Given the description of an element on the screen output the (x, y) to click on. 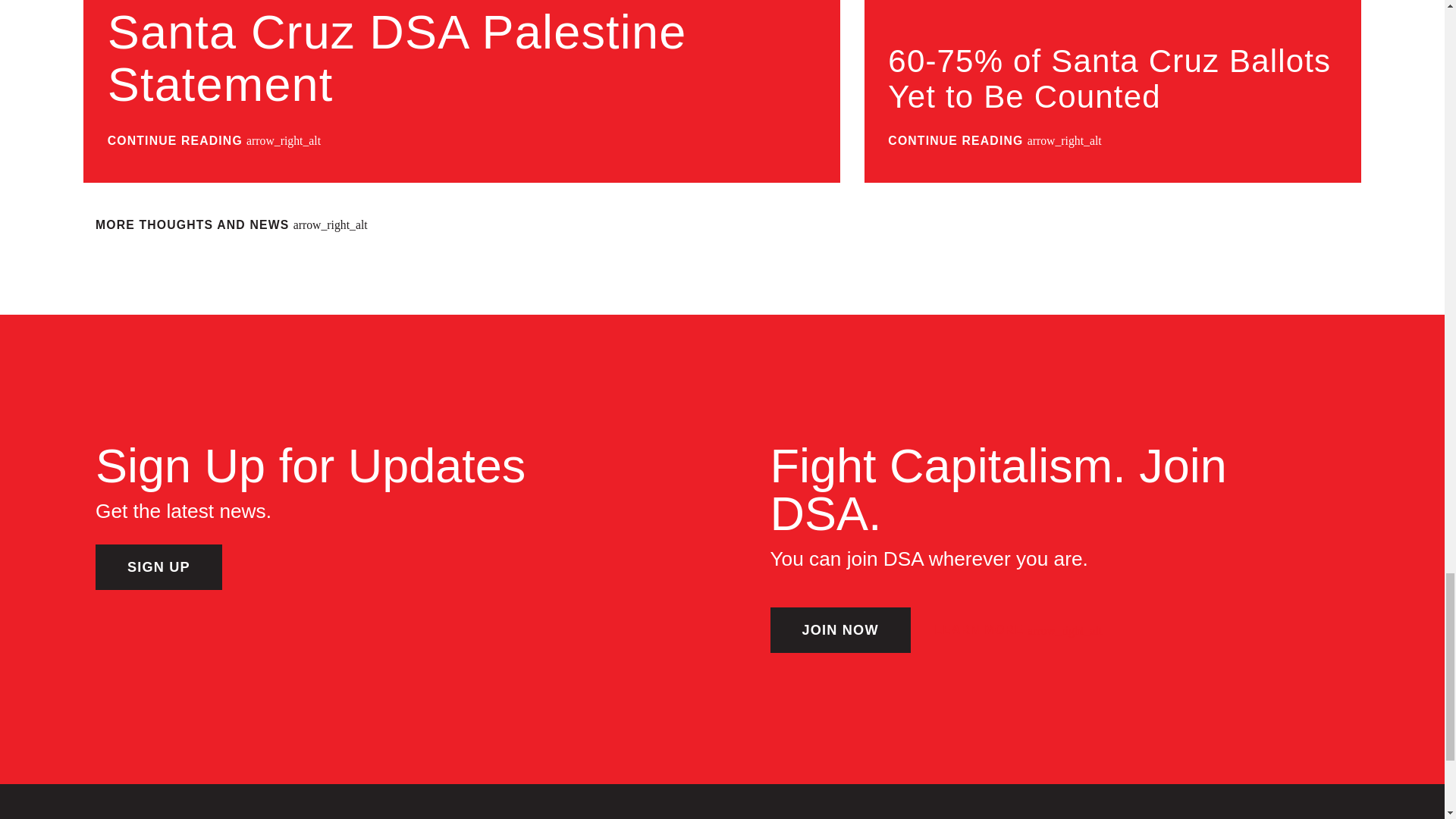
JOIN NOW (840, 629)
SIGN UP (159, 566)
